Given the description of an element on the screen output the (x, y) to click on. 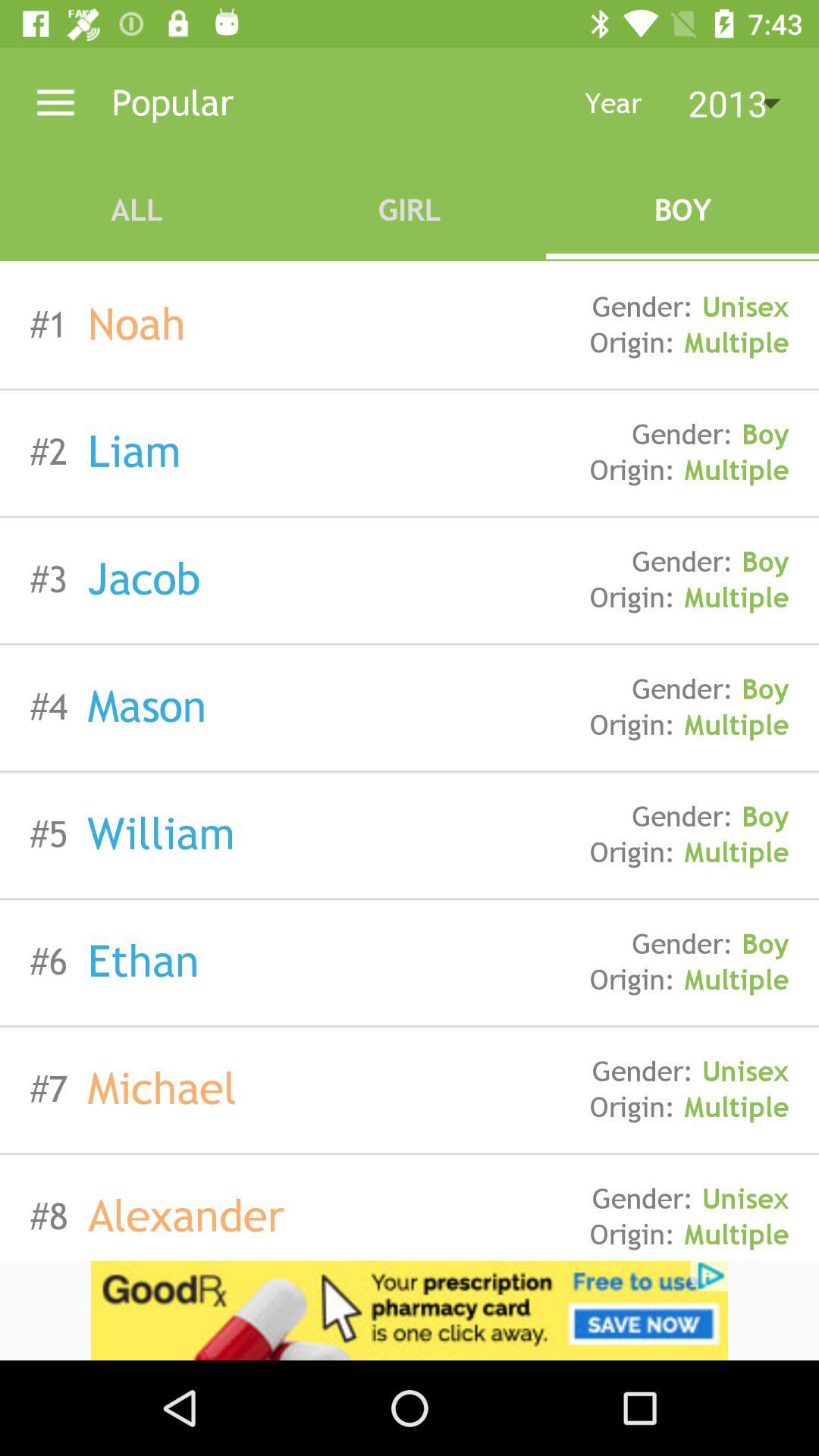
advertisement page (409, 1310)
